Given the description of an element on the screen output the (x, y) to click on. 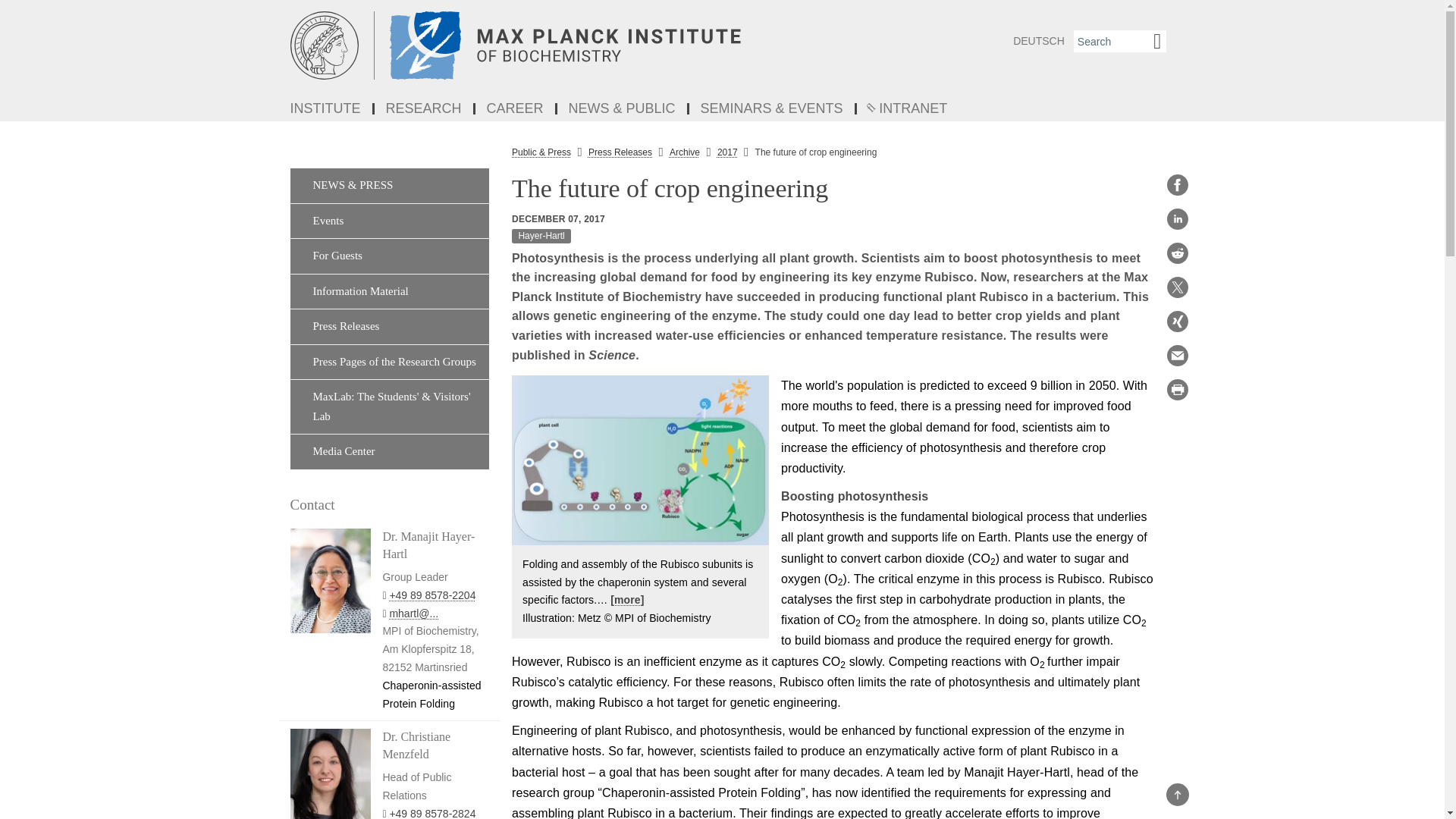
Xing (1177, 321)
Facebook (1177, 184)
opens zoom view (640, 460)
Reddit (1177, 252)
Print (1177, 389)
DEUTSCH (1038, 41)
Twitter (1177, 287)
INSTITUTE (326, 108)
E-Mail (1177, 354)
LinkedIn (1177, 219)
CAREER (516, 108)
RESEARCH (425, 108)
